Given the description of an element on the screen output the (x, y) to click on. 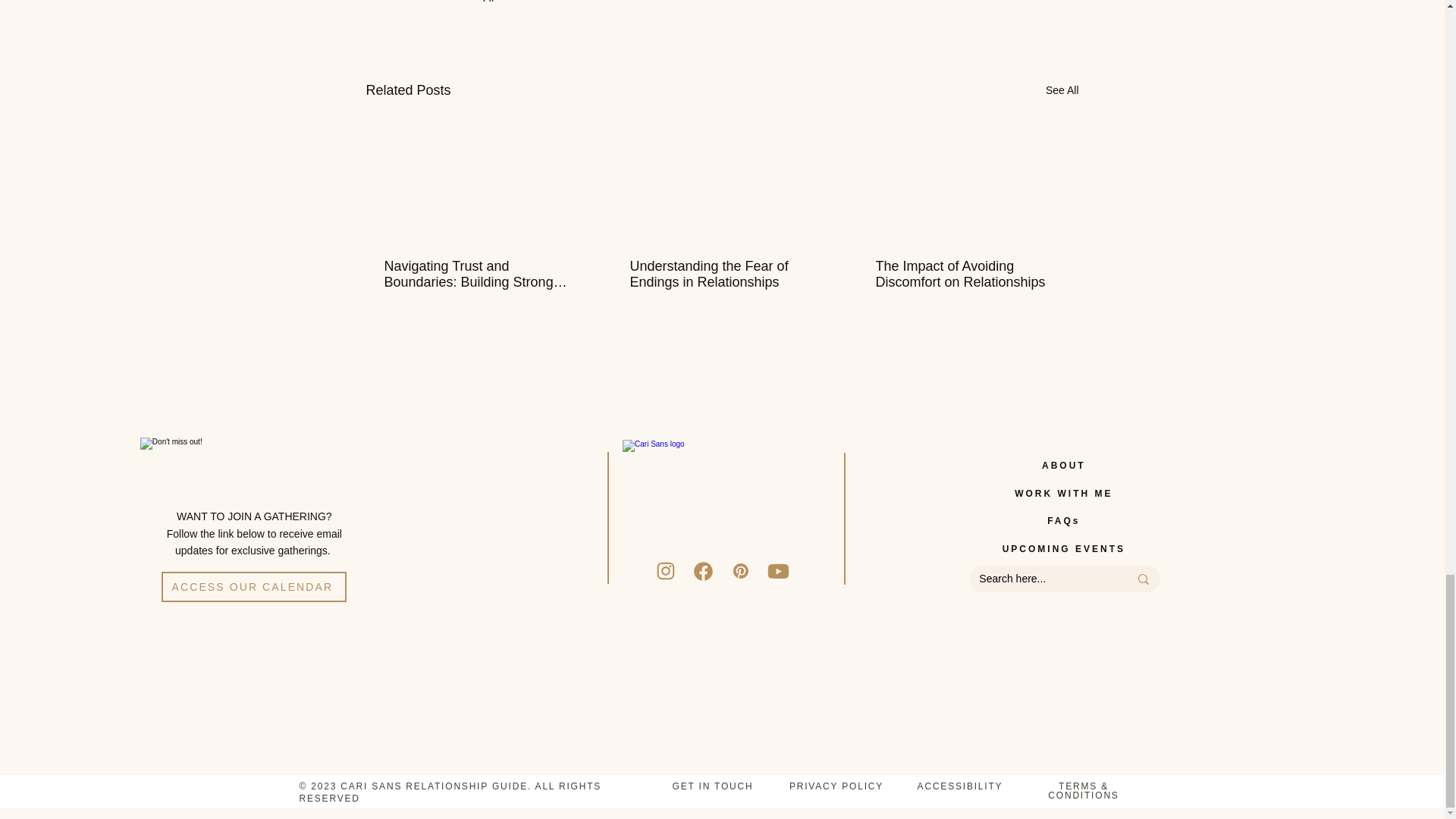
Understanding the Fear of Endings in Relationships (720, 274)
Navigate to Cari Sans Home  (722, 498)
See All (1061, 90)
The Impact of Avoiding Discomfort on Relationships (966, 274)
ACCESS OUR CALENDAR (253, 586)
